Given the description of an element on the screen output the (x, y) to click on. 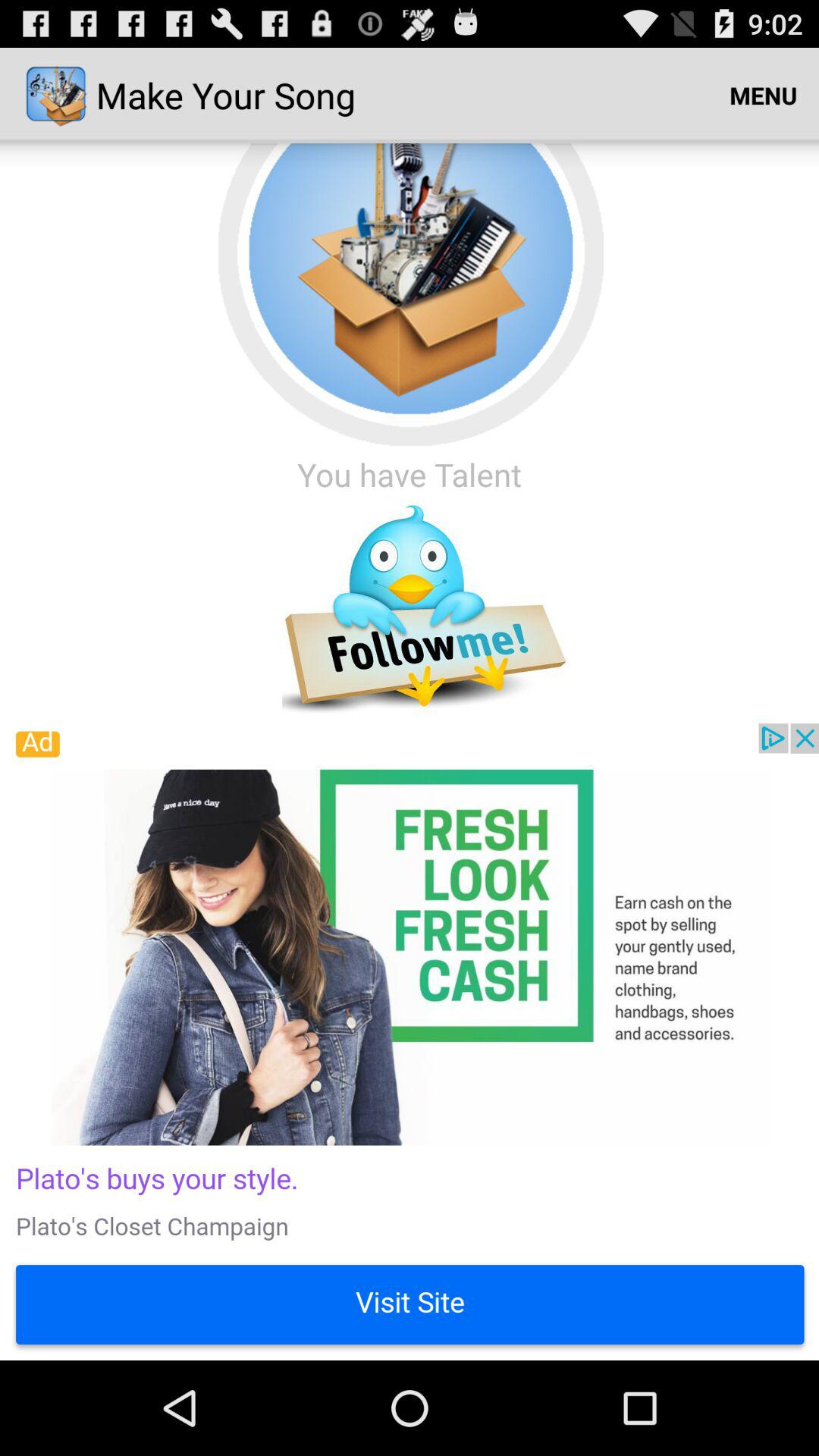
visit another site (409, 1041)
